Given the description of an element on the screen output the (x, y) to click on. 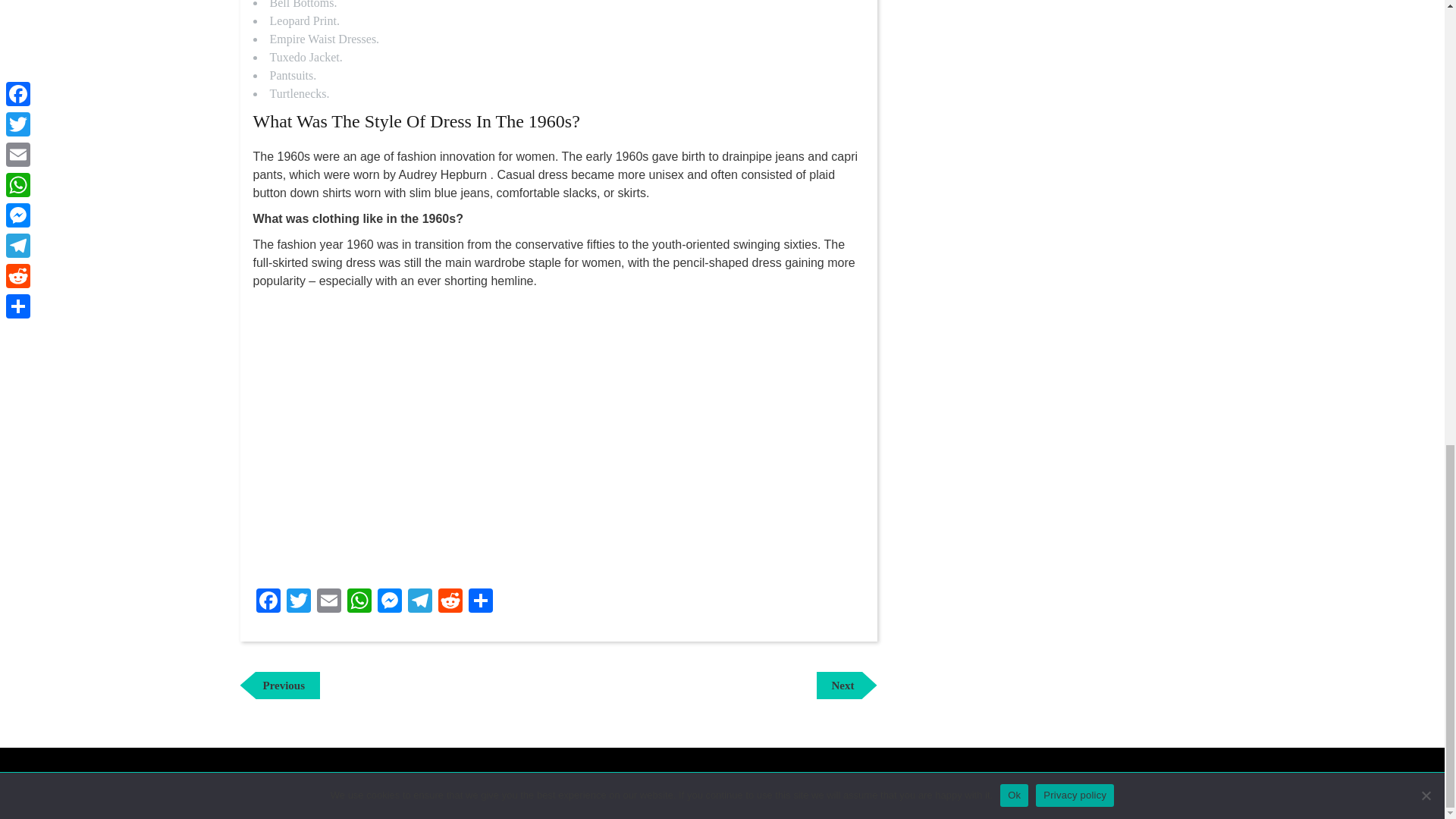
Facebook (268, 602)
Email (845, 685)
Messenger (328, 602)
Reddit (389, 602)
Share (450, 602)
Twitter (480, 602)
WhatsApp (298, 602)
Email (358, 602)
Facebook (328, 602)
Messenger (280, 685)
Telegram (268, 602)
Reddit (389, 602)
1960s Hippy Fashion (419, 602)
